Given the description of an element on the screen output the (x, y) to click on. 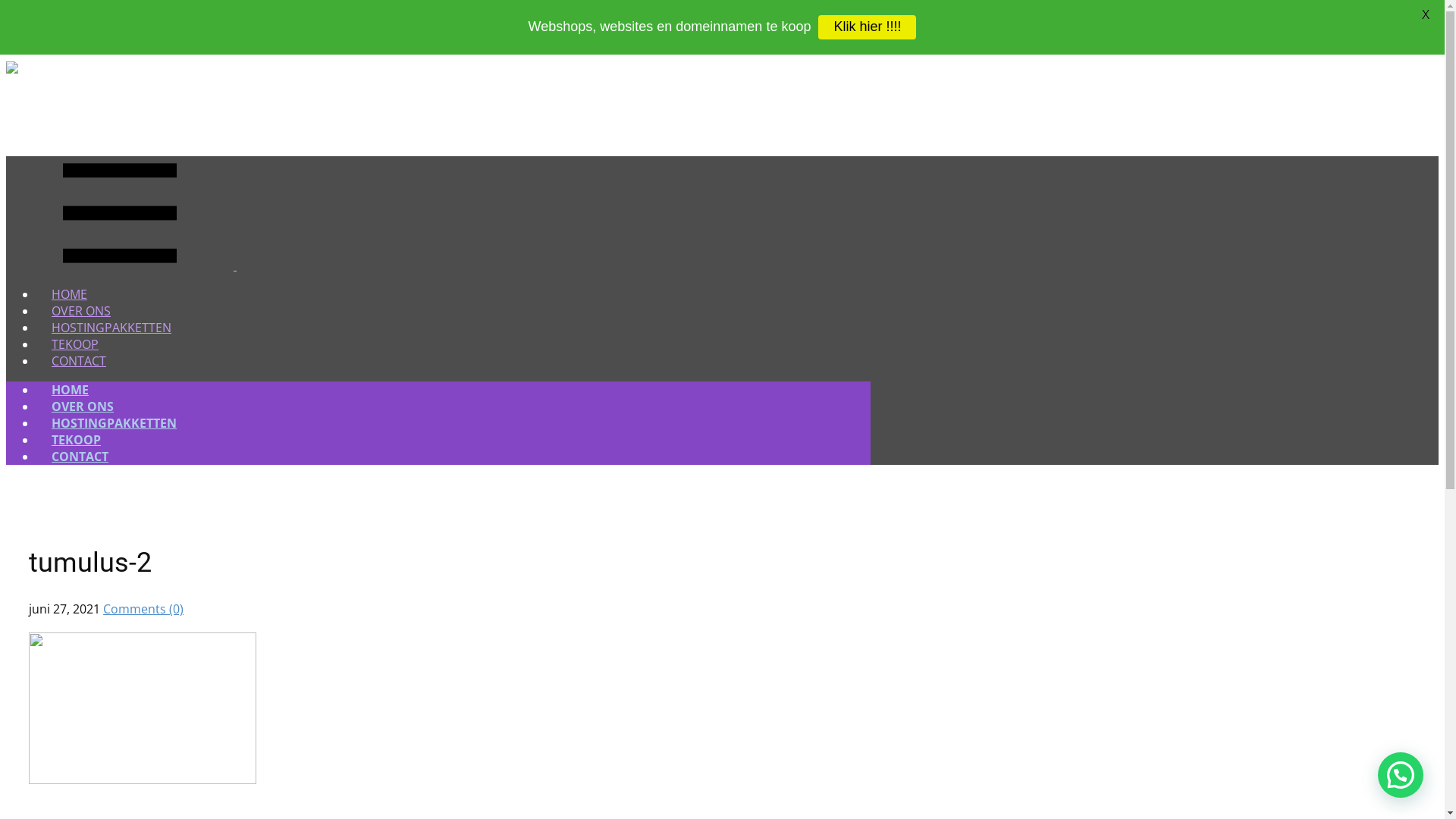
Logo AVG Gingelom Element type: hover (12, 68)
Klik hier !!!! Element type: text (867, 27)
HOME Element type: text (69, 389)
HOSTINGPAKKETTEN Element type: text (113, 422)
TEKOOP Element type: text (76, 439)
OVER ONS Element type: text (80, 310)
Skip to content Element type: text (5, 59)
TEKOOP Element type: text (74, 343)
CONTACT Element type: text (79, 456)
OVER ONS Element type: text (82, 406)
CONTACT Element type: text (78, 360)
HOME Element type: text (69, 293)
HOSTINGPAKKETTEN Element type: text (111, 327)
Comments (0) Element type: text (143, 608)
Facebook Element type: hover (806, 45)
